Given the description of an element on the screen output the (x, y) to click on. 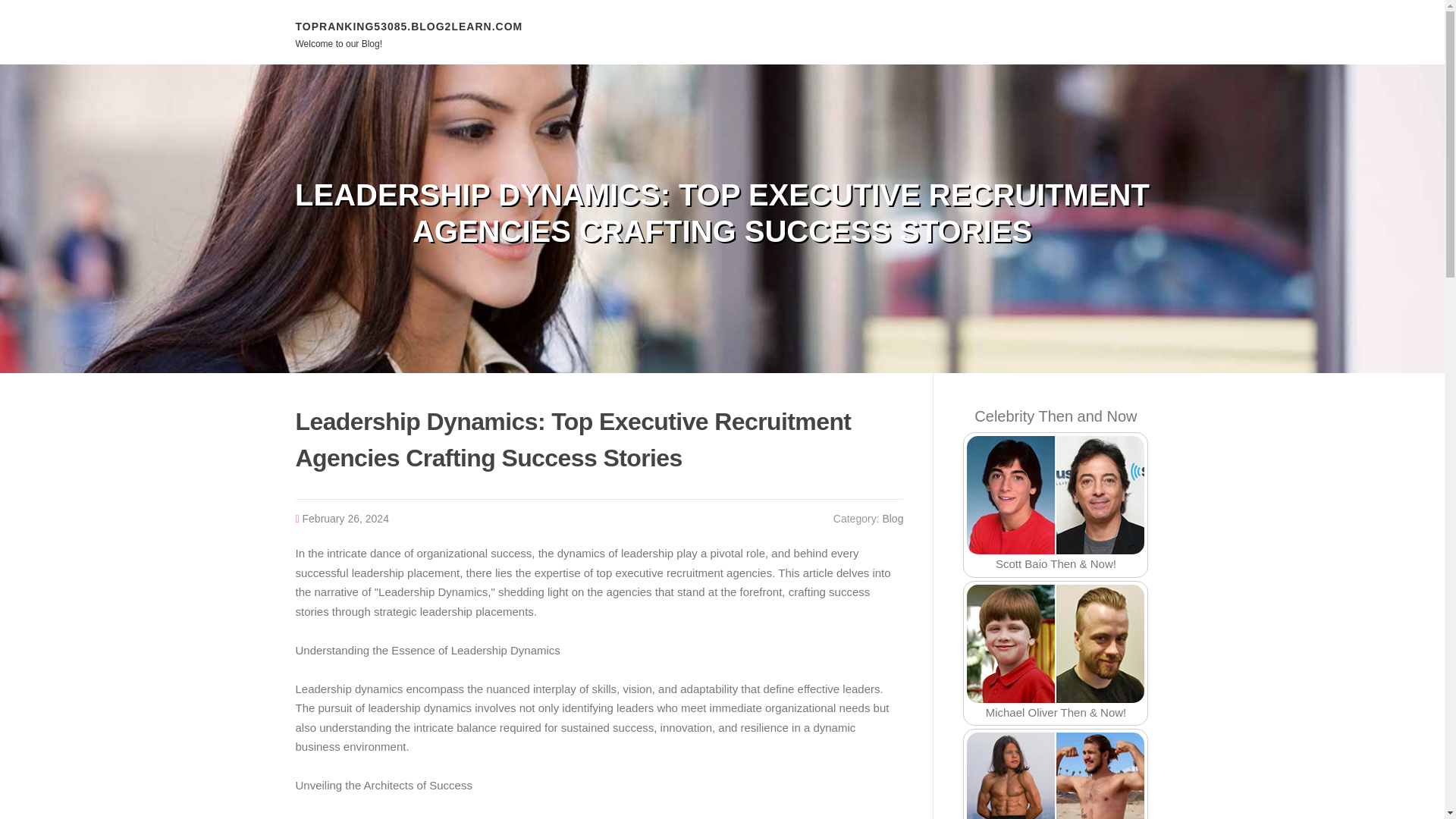
February 26, 2024 (345, 518)
Skip to content (37, 9)
Blog (892, 518)
TOPRANKING53085.BLOG2LEARN.COM (408, 25)
